Given the description of an element on the screen output the (x, y) to click on. 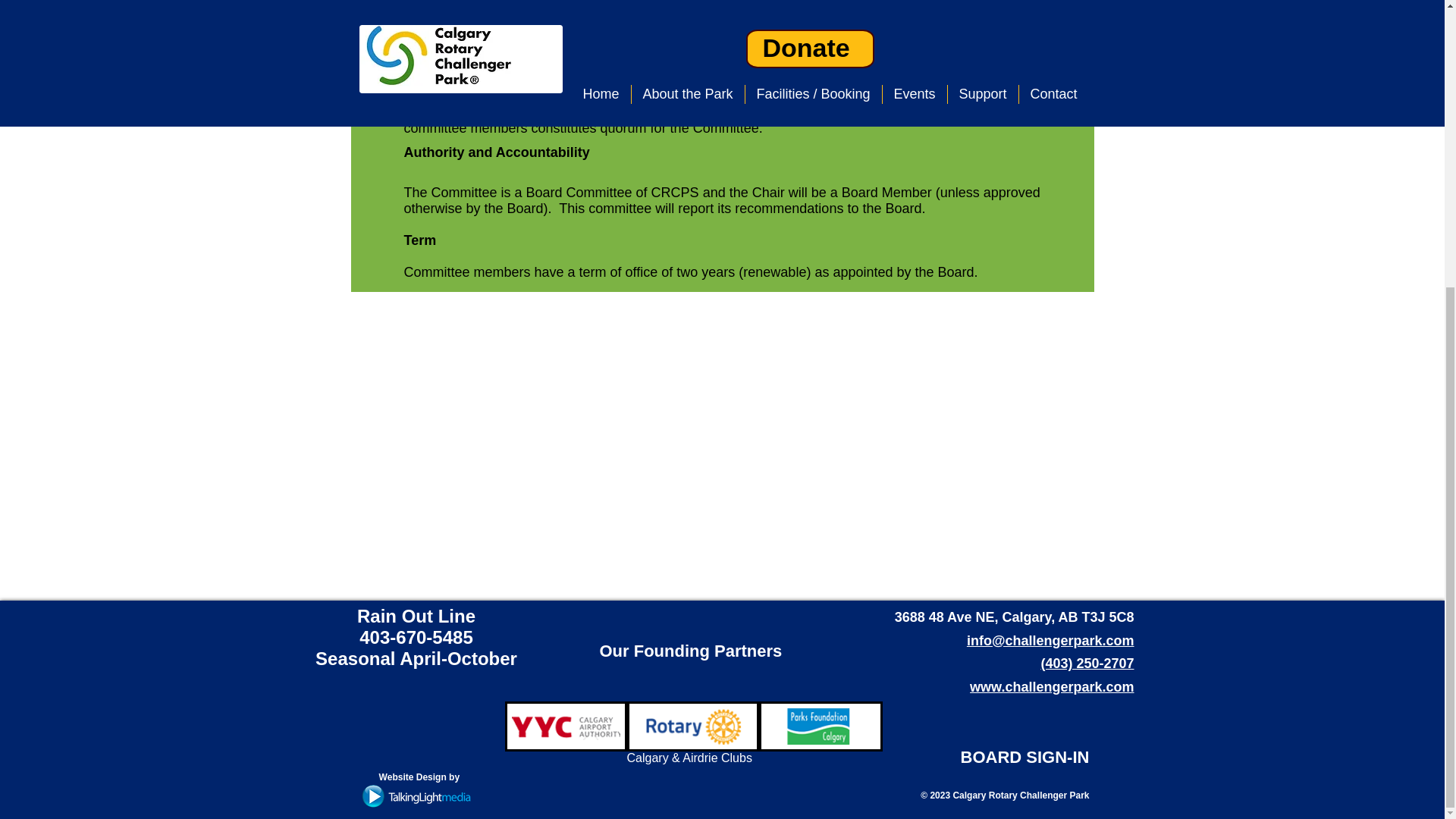
BOARD SIGN-IN (1024, 756)
www.challengerpark.com (1051, 686)
